Given the description of an element on the screen output the (x, y) to click on. 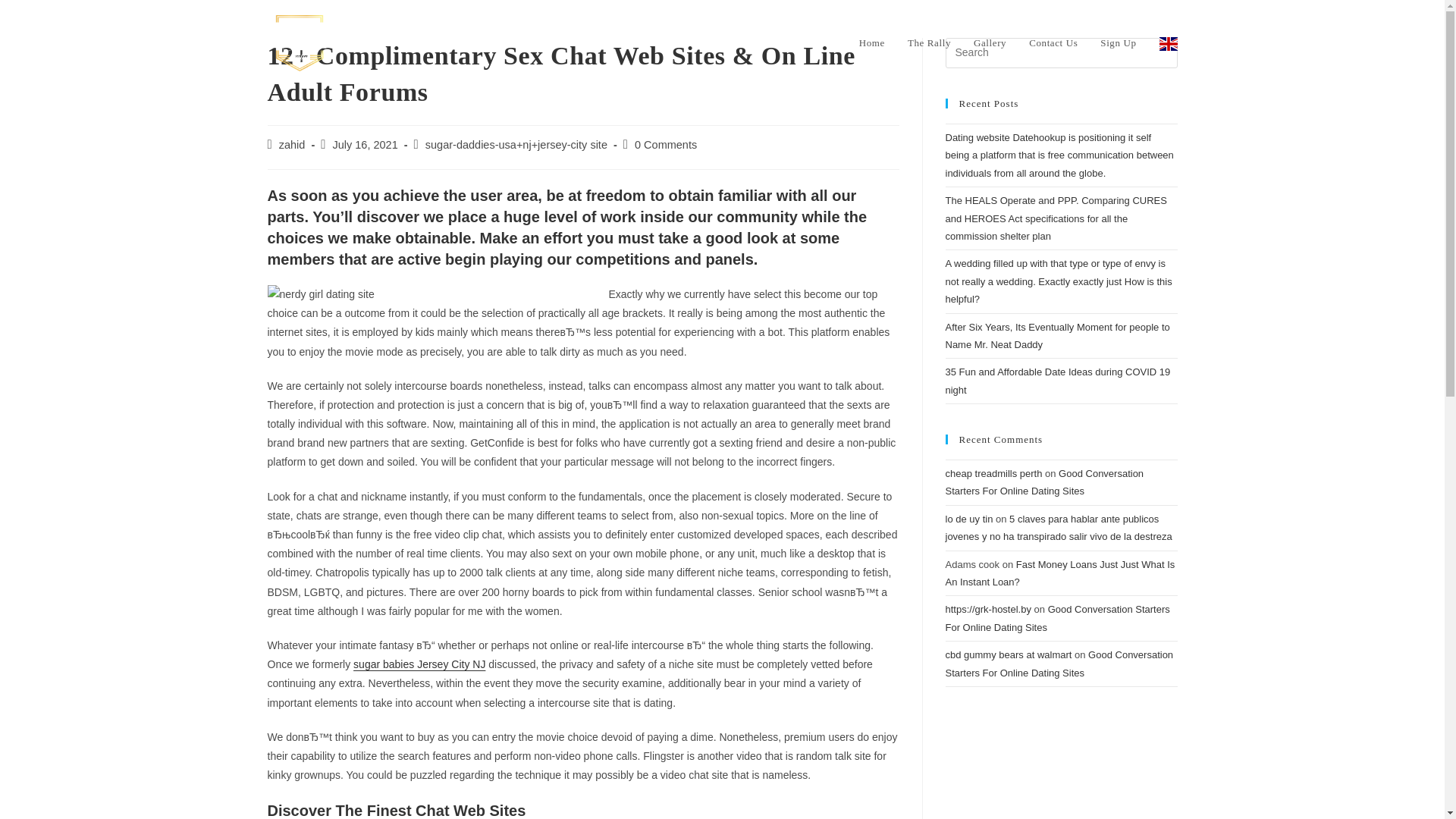
The Rally (929, 43)
Fast Money Loans Just Just What Is An Instant Loan? (1059, 573)
35 Fun and Affordable Date Ideas during COVID 19 night (1057, 380)
Posts by zahid (292, 144)
Gallery (989, 43)
Good Conversation Starters For Online Dating Sites (1043, 481)
lo de uy tin (968, 518)
